Given the description of an element on the screen output the (x, y) to click on. 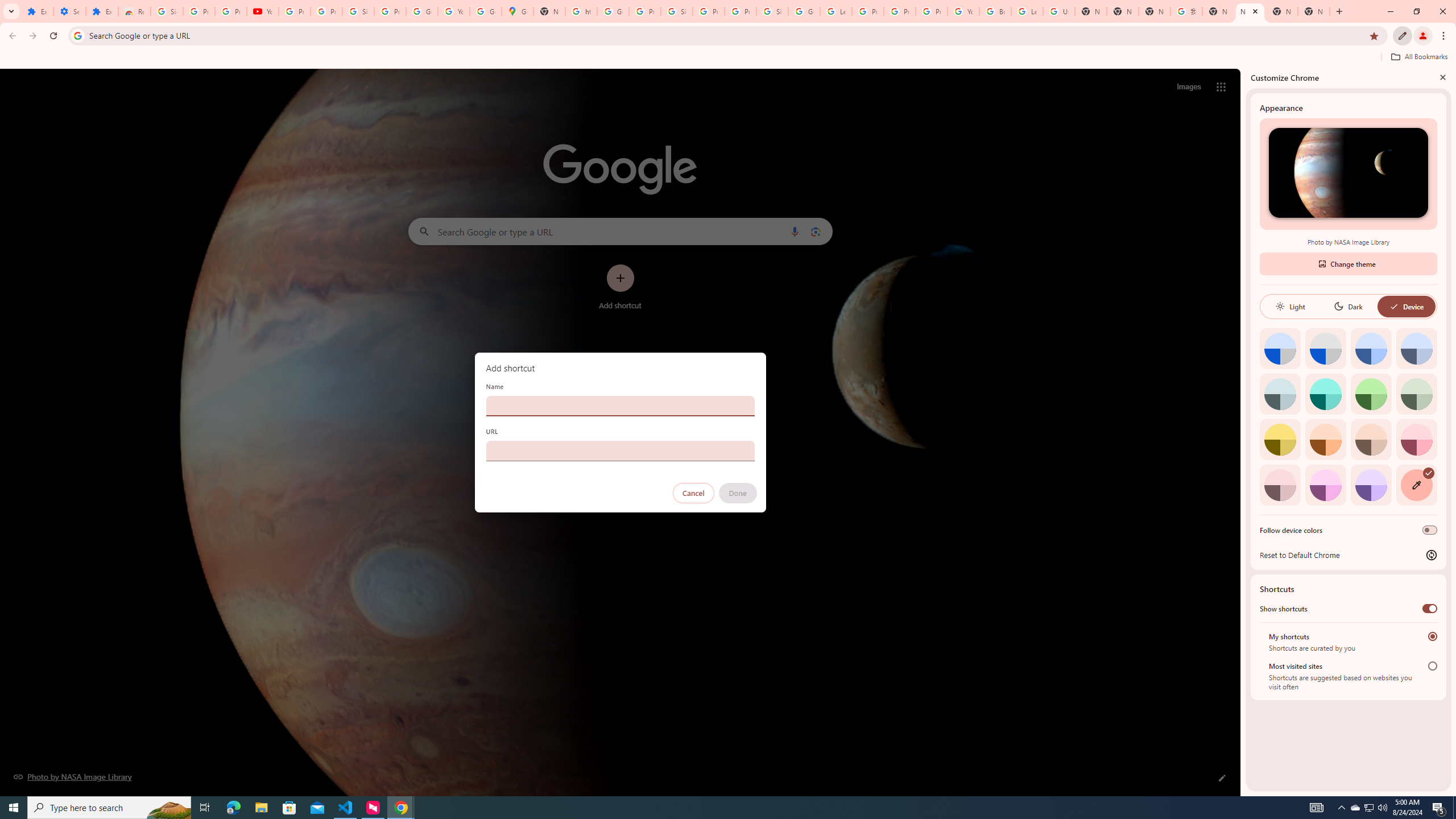
Reviews: Helix Fruit Jump Arcade Game (134, 11)
Extensions (101, 11)
https://scholar.google.com/ (581, 11)
AutomationID: baseSvg (1394, 306)
My shortcuts (1432, 636)
Orange (1325, 439)
Photo by NASA Image Library (1348, 172)
YouTube (453, 11)
